Given the description of an element on the screen output the (x, y) to click on. 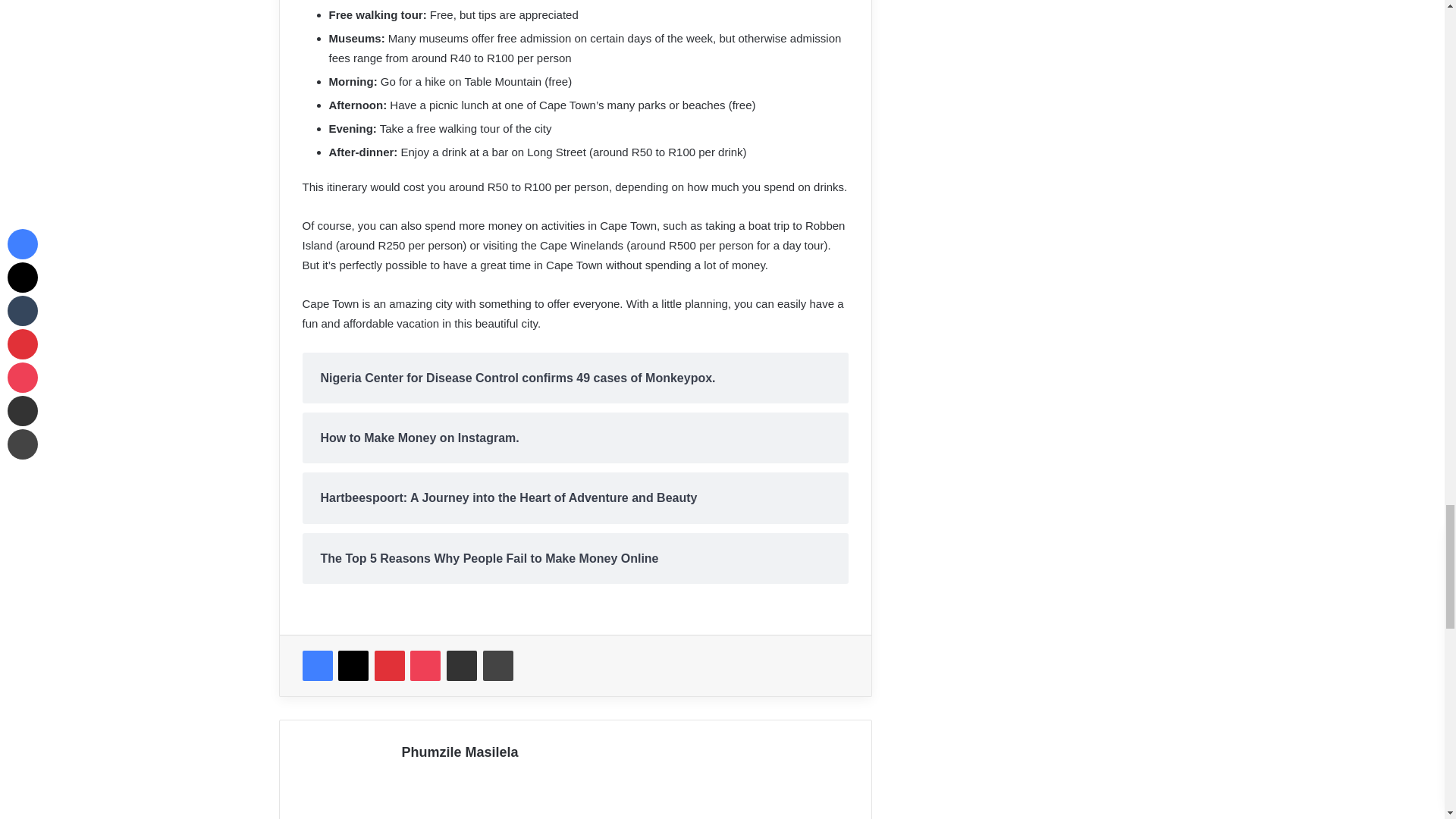
Pinterest (389, 665)
Facebook (316, 665)
Pocket (425, 665)
X (352, 665)
